Given the description of an element on the screen output the (x, y) to click on. 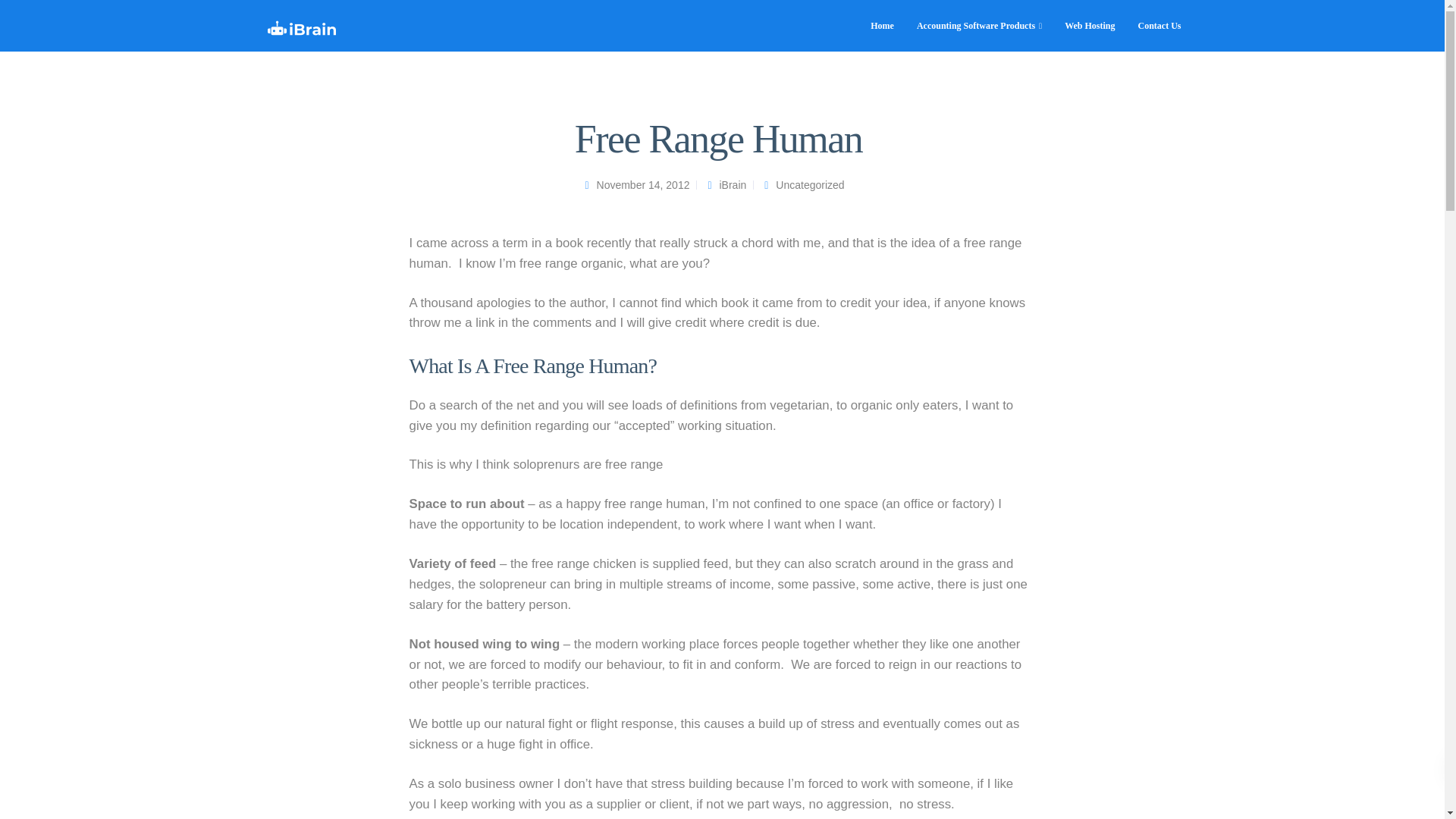
Web Hosting (1088, 24)
Uncategorized (810, 184)
Web Hosting (1088, 24)
Accounting Software Products (978, 24)
Posts by iBrain (732, 184)
Accounting Software Products (978, 24)
Home (882, 24)
Contact Us (1159, 24)
iBrain (732, 184)
Contact Us (1159, 24)
Home (882, 24)
